Given the description of an element on the screen output the (x, y) to click on. 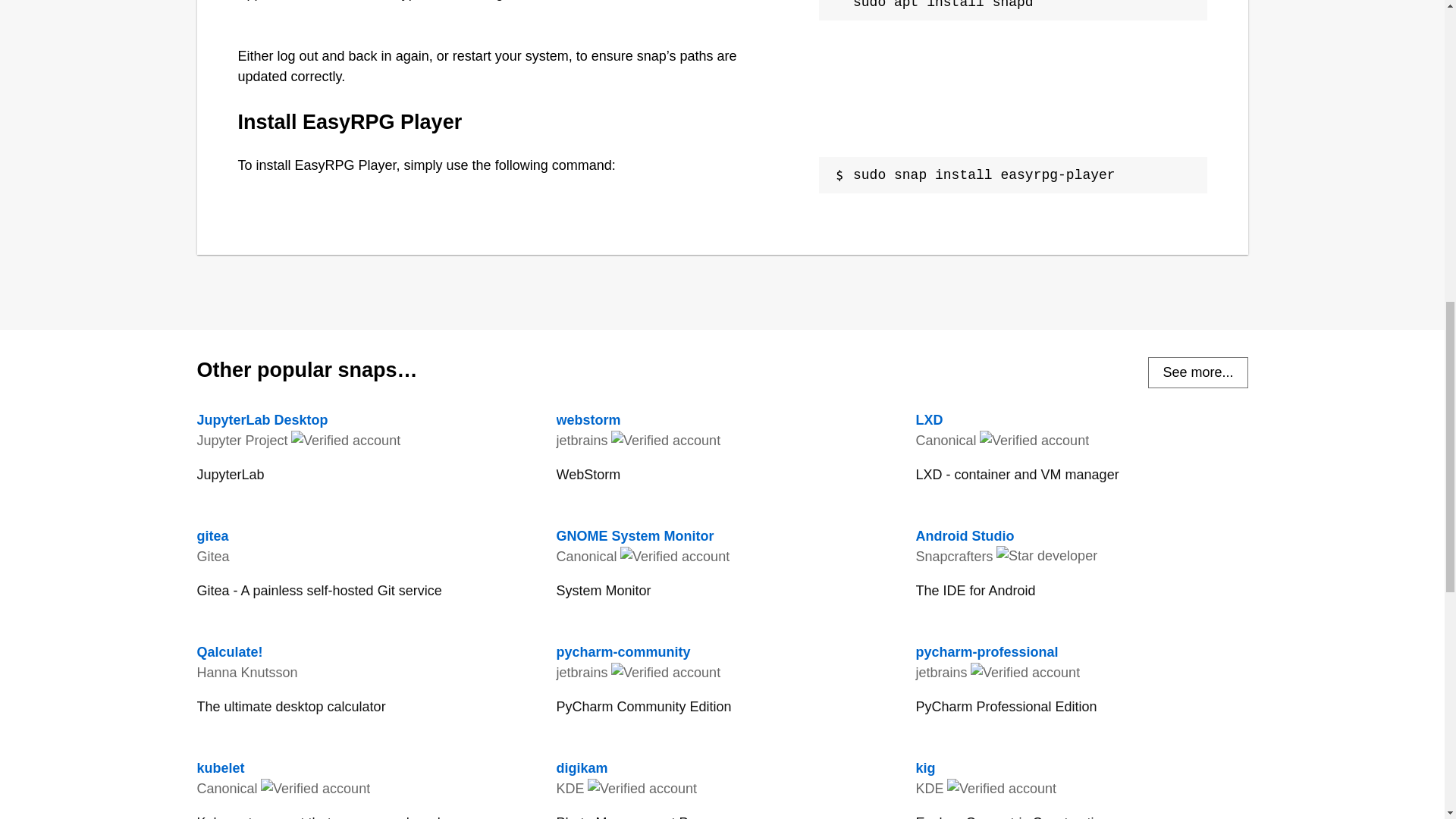
See more... (722, 785)
